Given the description of an element on the screen output the (x, y) to click on. 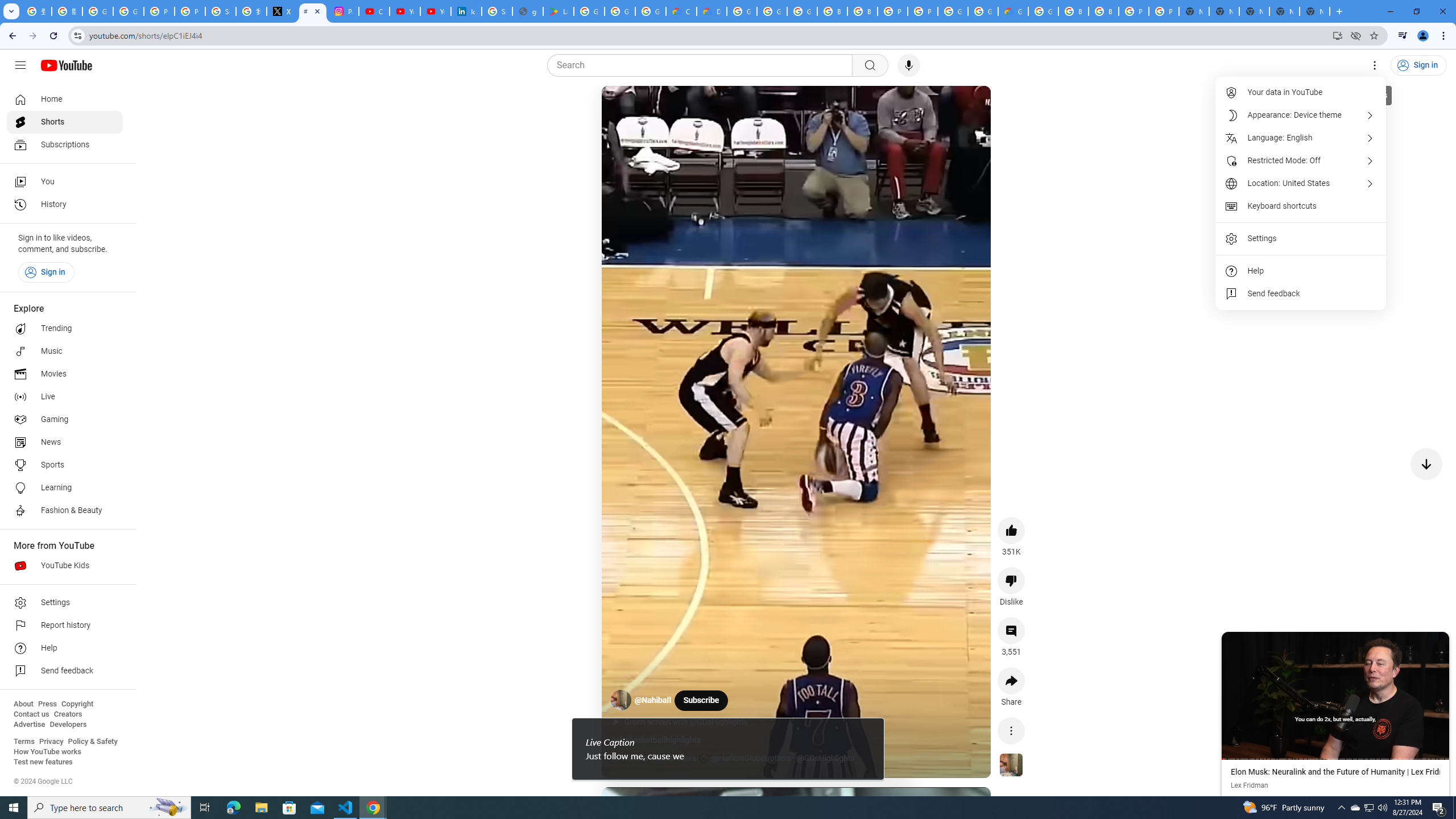
Share (1011, 680)
Restricted Mode: Off (1300, 160)
@Nahiball (653, 700)
Subscriptions (64, 144)
Policy & Safety (91, 741)
Shorts (64, 121)
Mute (657, 108)
YouTube Home (66, 65)
How YouTube works (47, 751)
